Given the description of an element on the screen output the (x, y) to click on. 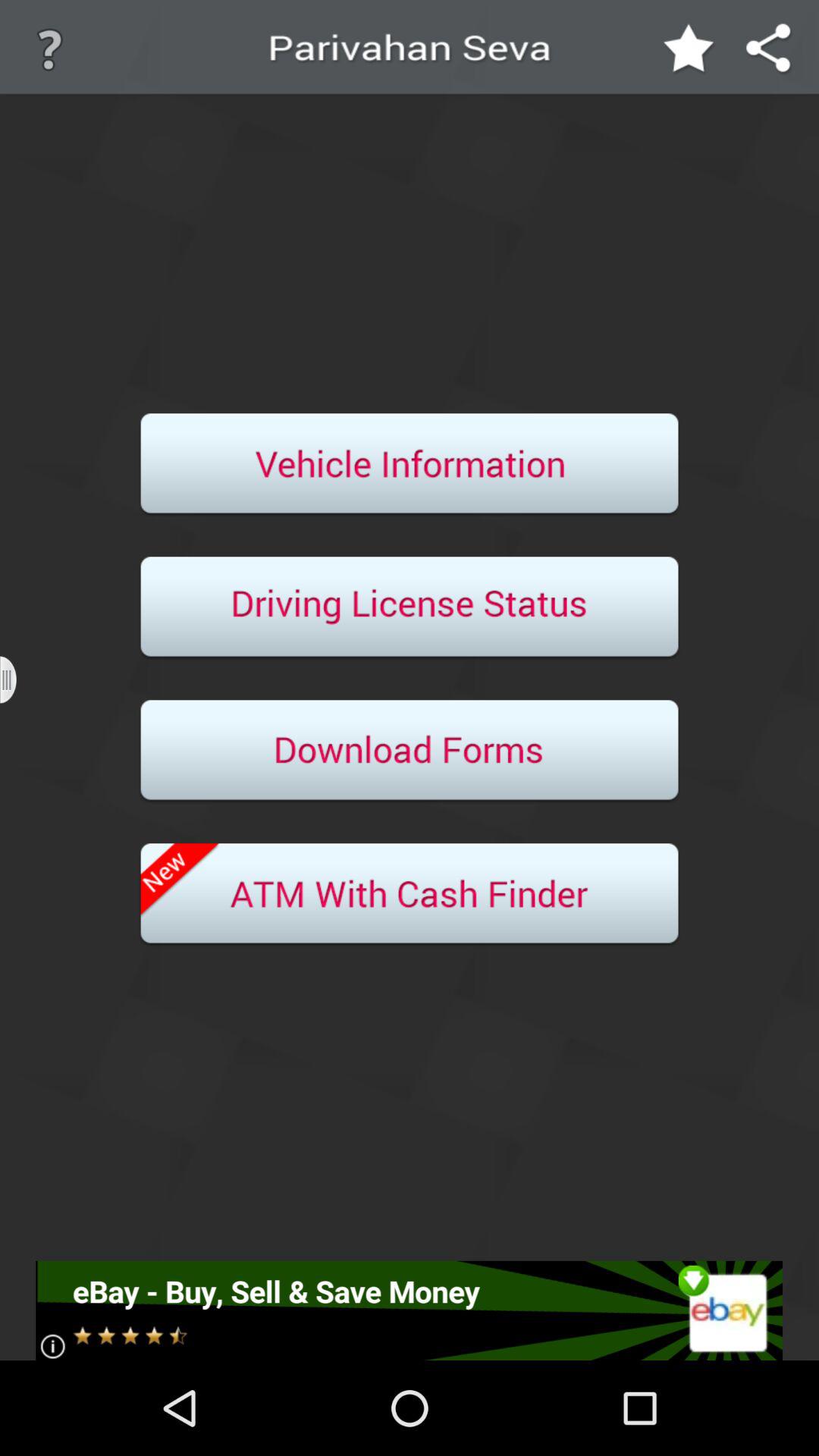
go to advertisement option (408, 1310)
